Given the description of an element on the screen output the (x, y) to click on. 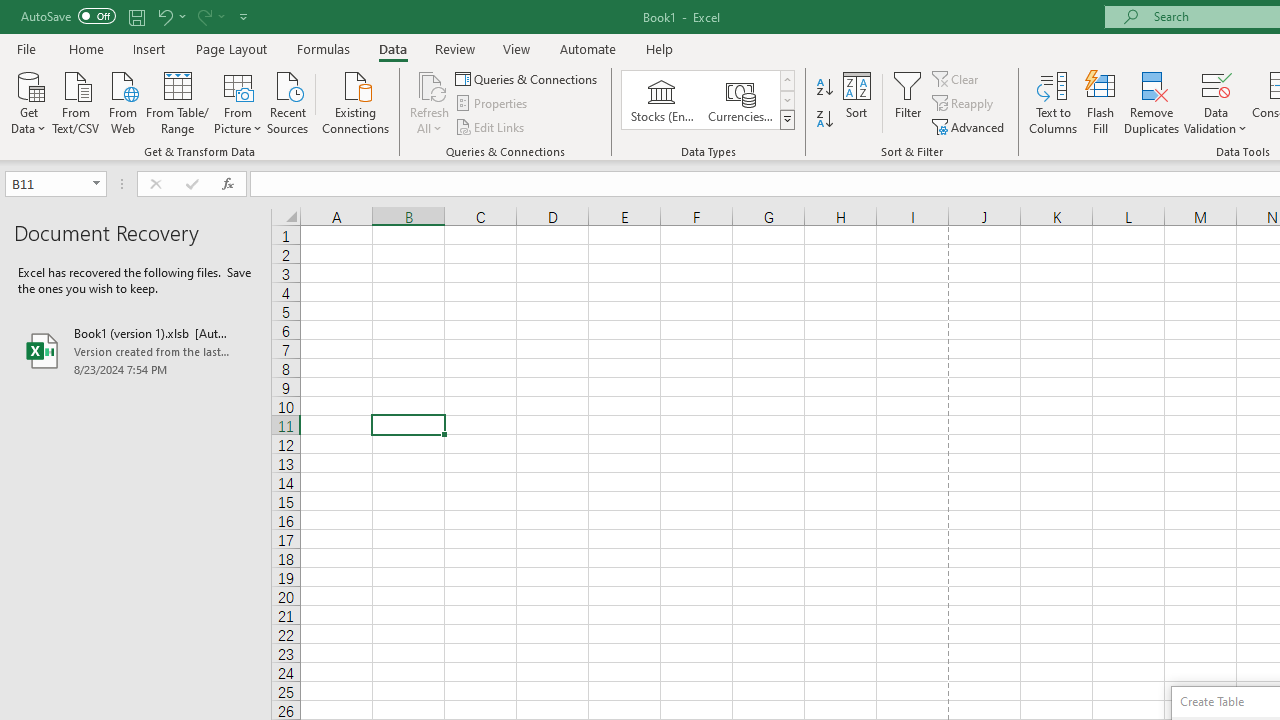
Filter (908, 102)
Flash Fill (1101, 102)
